Given the description of an element on the screen output the (x, y) to click on. 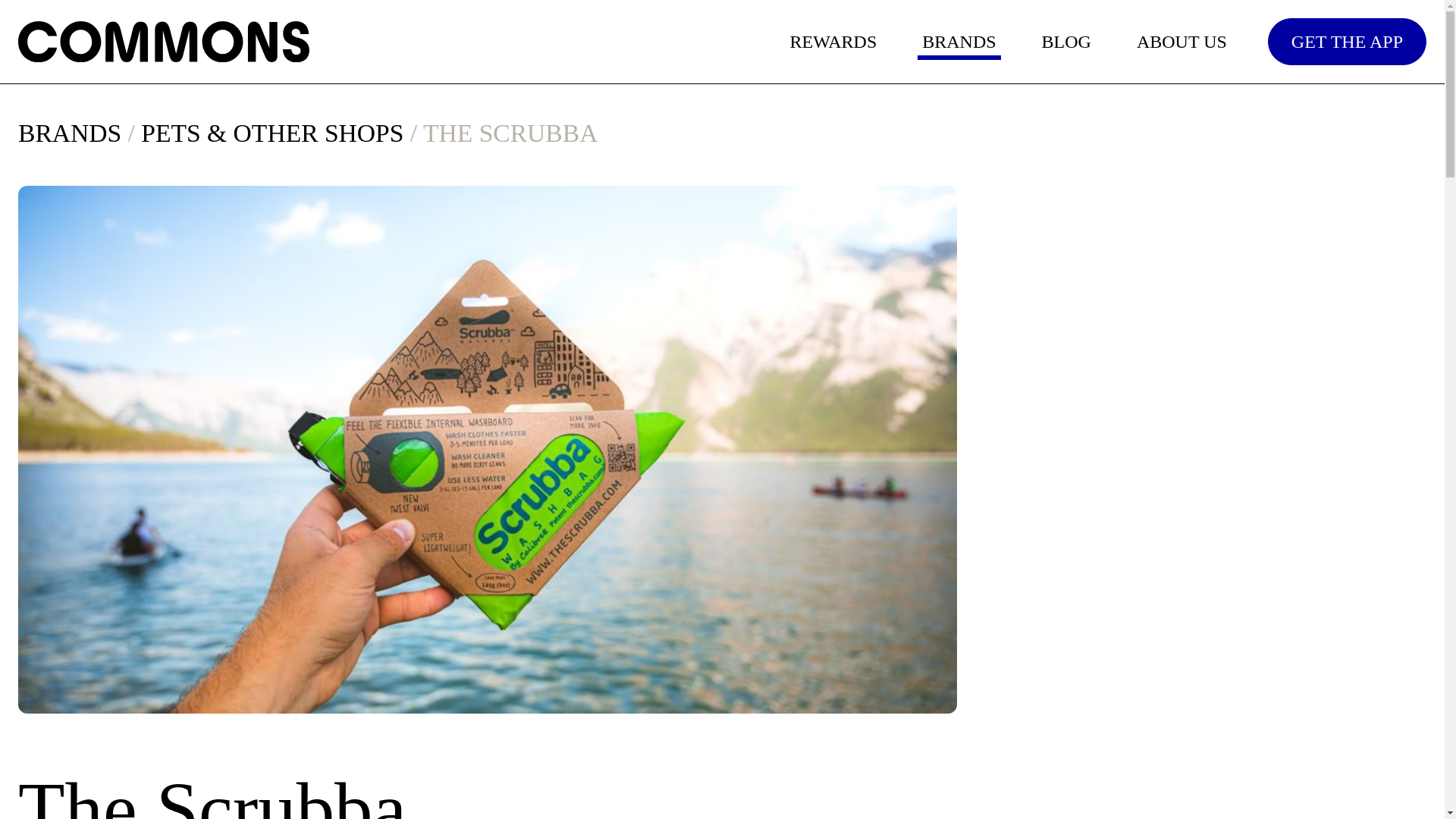
REWARDS (834, 41)
BLOG (1066, 41)
GET THE APP (1347, 41)
THE SCRUBBA (509, 135)
BRANDS (68, 135)
BRANDS (958, 41)
ABOUT US (1181, 41)
